Given the description of an element on the screen output the (x, y) to click on. 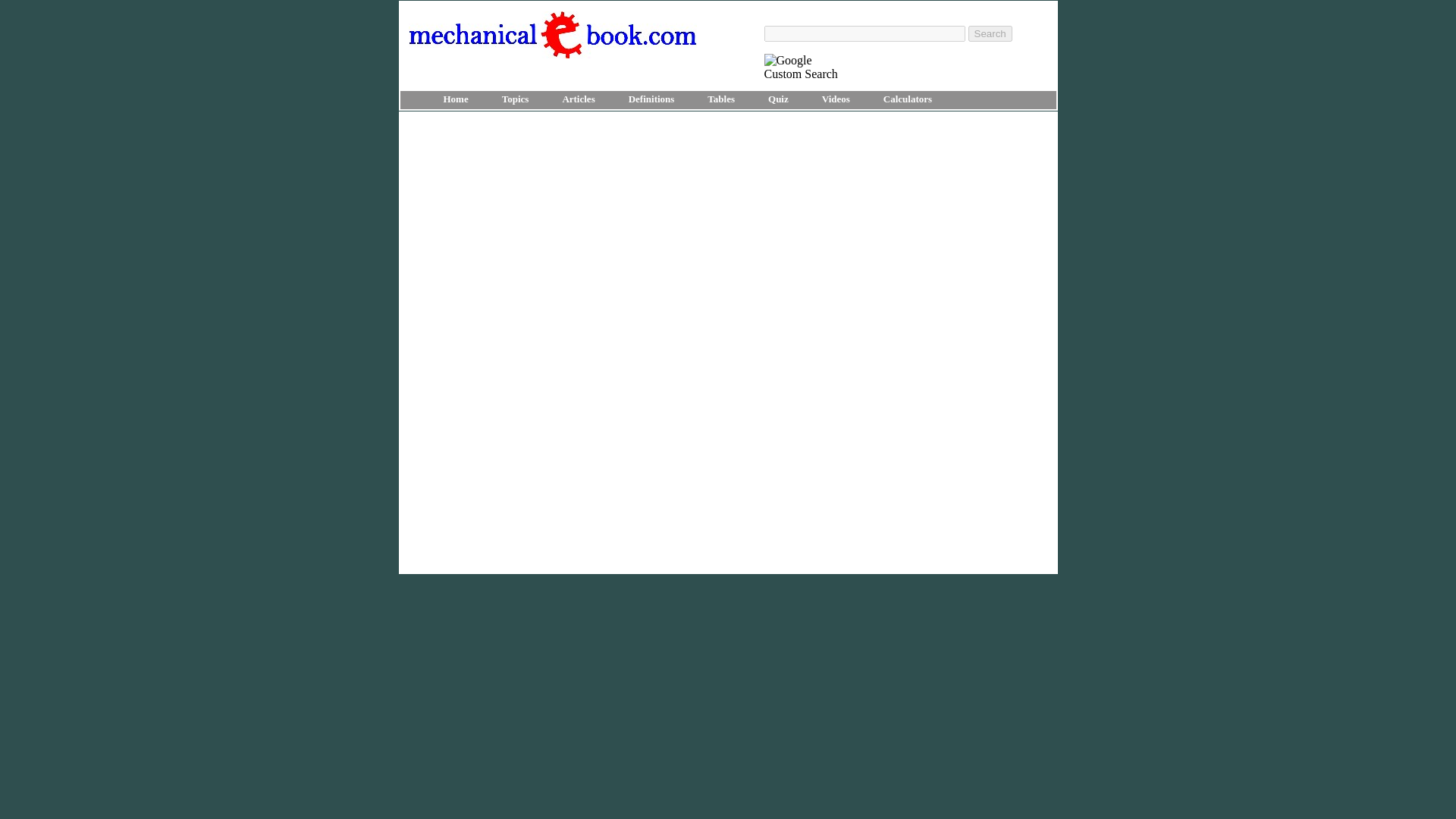
Search (989, 33)
Tables (720, 99)
Search (989, 33)
Home (455, 99)
Quiz (778, 99)
Videos (835, 99)
Definitions (651, 99)
Topics (515, 99)
Calculators (907, 99)
Articles (577, 99)
